Given the description of an element on the screen output the (x, y) to click on. 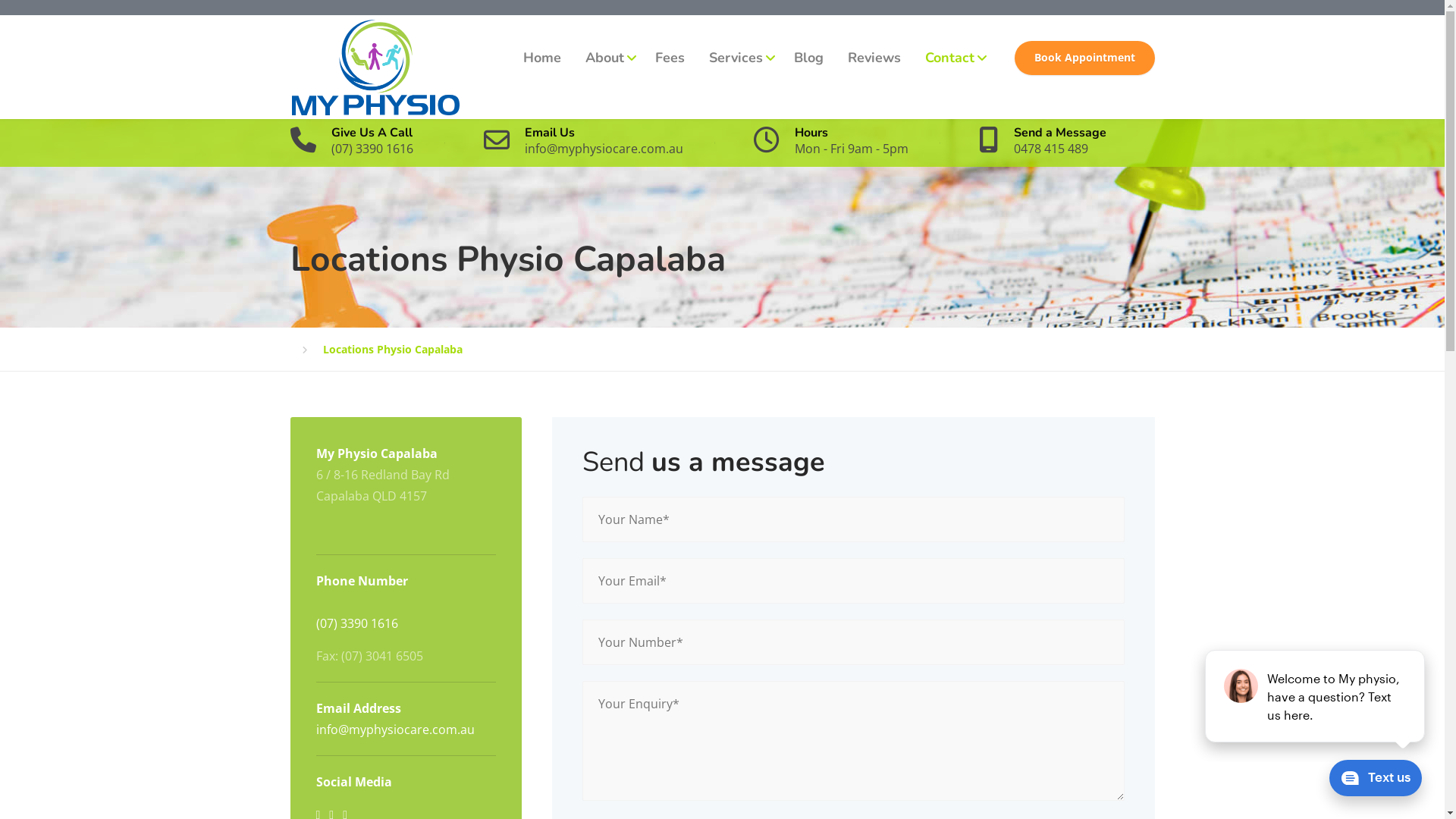
podium webchat widget prompt Element type: hover (1315, 696)
Go to . Element type: hover (305, 349)
info@myphysiocare.com.au Element type: text (394, 729)
(07) 3390 1616 Element type: text (356, 623)
Book Appointment Element type: text (1084, 57)
Blog Element type: text (807, 57)
Contact Element type: text (952, 57)
About Element type: text (607, 57)
Home Element type: text (541, 57)
Fees Element type: text (669, 57)
Services Element type: text (738, 57)
Reviews Element type: text (874, 57)
